Given the description of an element on the screen output the (x, y) to click on. 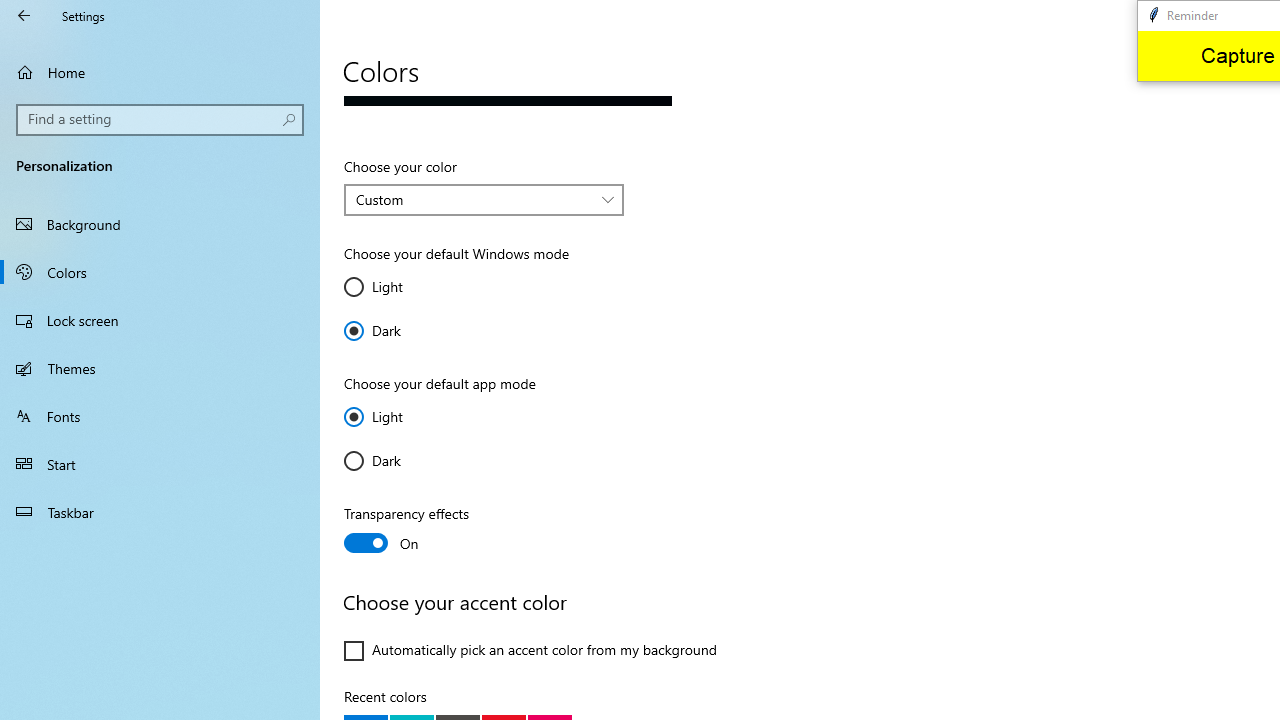
Fonts (160, 415)
